Given the description of an element on the screen output the (x, y) to click on. 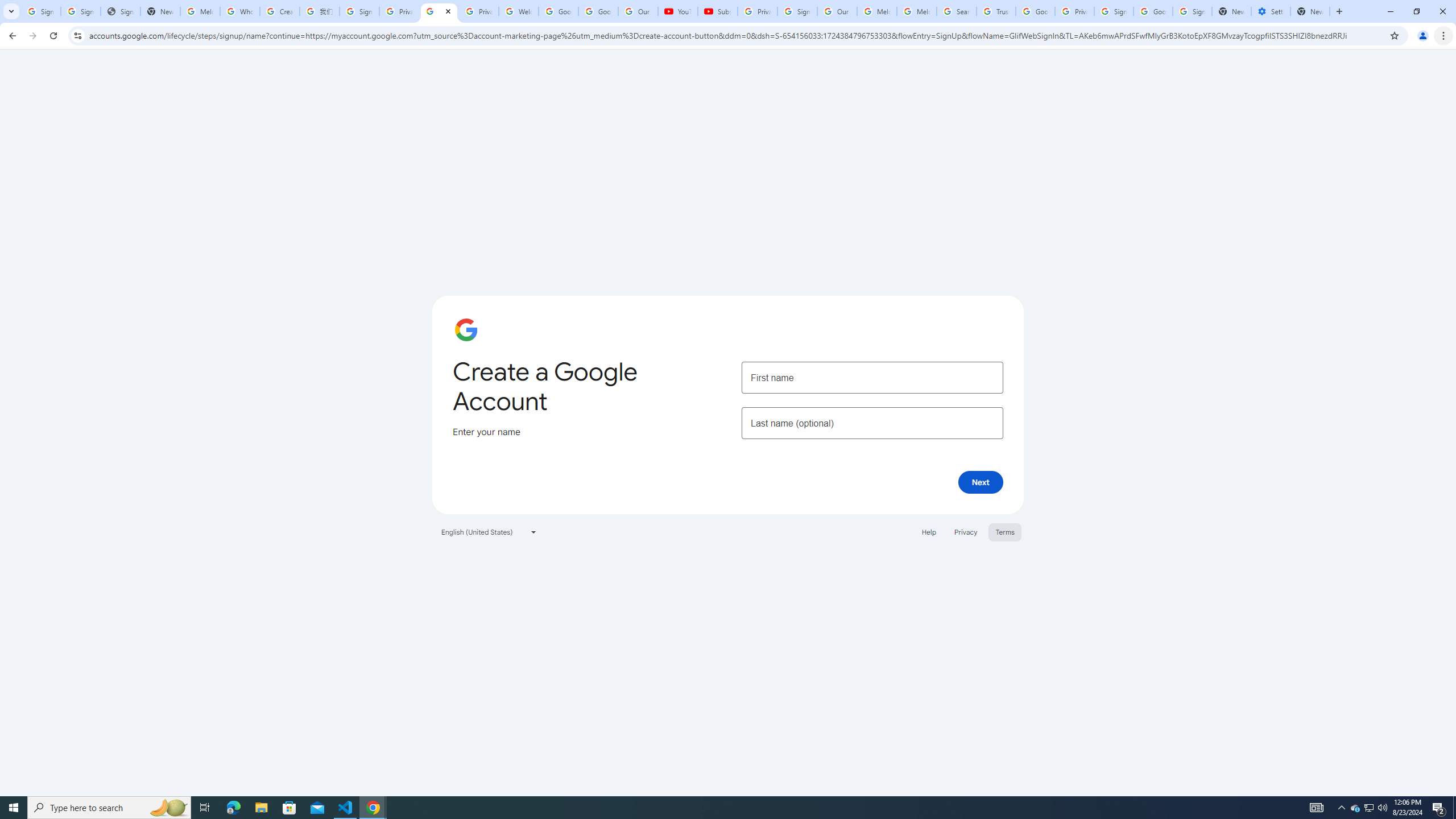
Welcome to My Activity (518, 11)
Last name (optional) (871, 422)
Sign in - Google Accounts (80, 11)
Subscriptions - YouTube (717, 11)
